Given the description of an element on the screen output the (x, y) to click on. 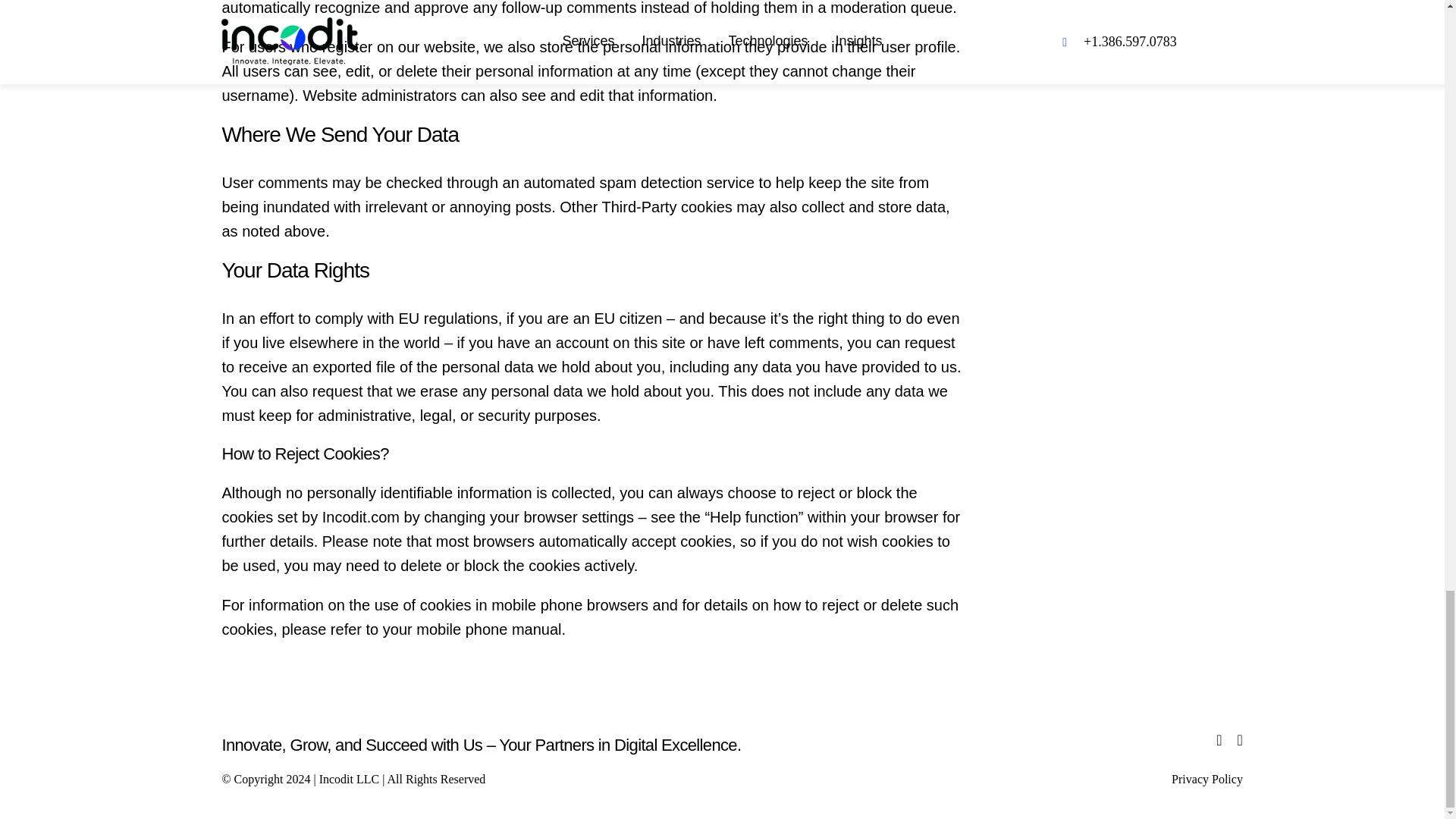
Privacy Policy (1207, 779)
